Given the description of an element on the screen output the (x, y) to click on. 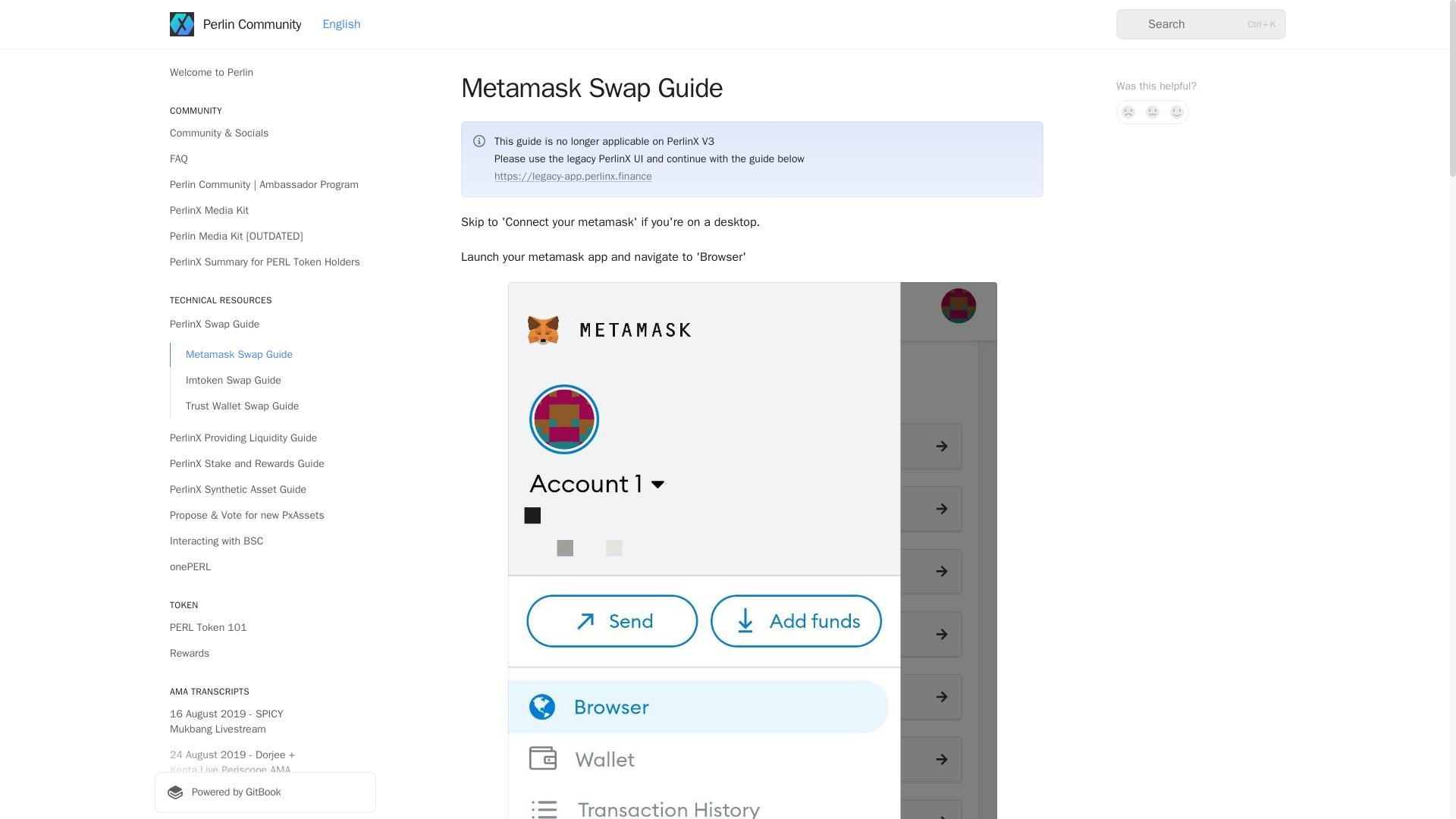
Imtoken Swap Guide (272, 380)
Welcome to Perlin (264, 72)
PERL Token 101 (264, 627)
Perlin Community (235, 24)
PerlinX Synthetic Asset Guide (264, 489)
Yes, it was! (1176, 111)
PerlinX Stake and Rewards Guide (264, 463)
PerlinX Summary for PERL Token Holders (264, 262)
Metamask Swap Guide (272, 354)
No (1128, 111)
PerlinX Media Kit (264, 210)
onePERL (264, 567)
Trust Wallet Swap Guide (272, 405)
PerlinX Swap Guide (264, 324)
FAQ (264, 159)
